Given the description of an element on the screen output the (x, y) to click on. 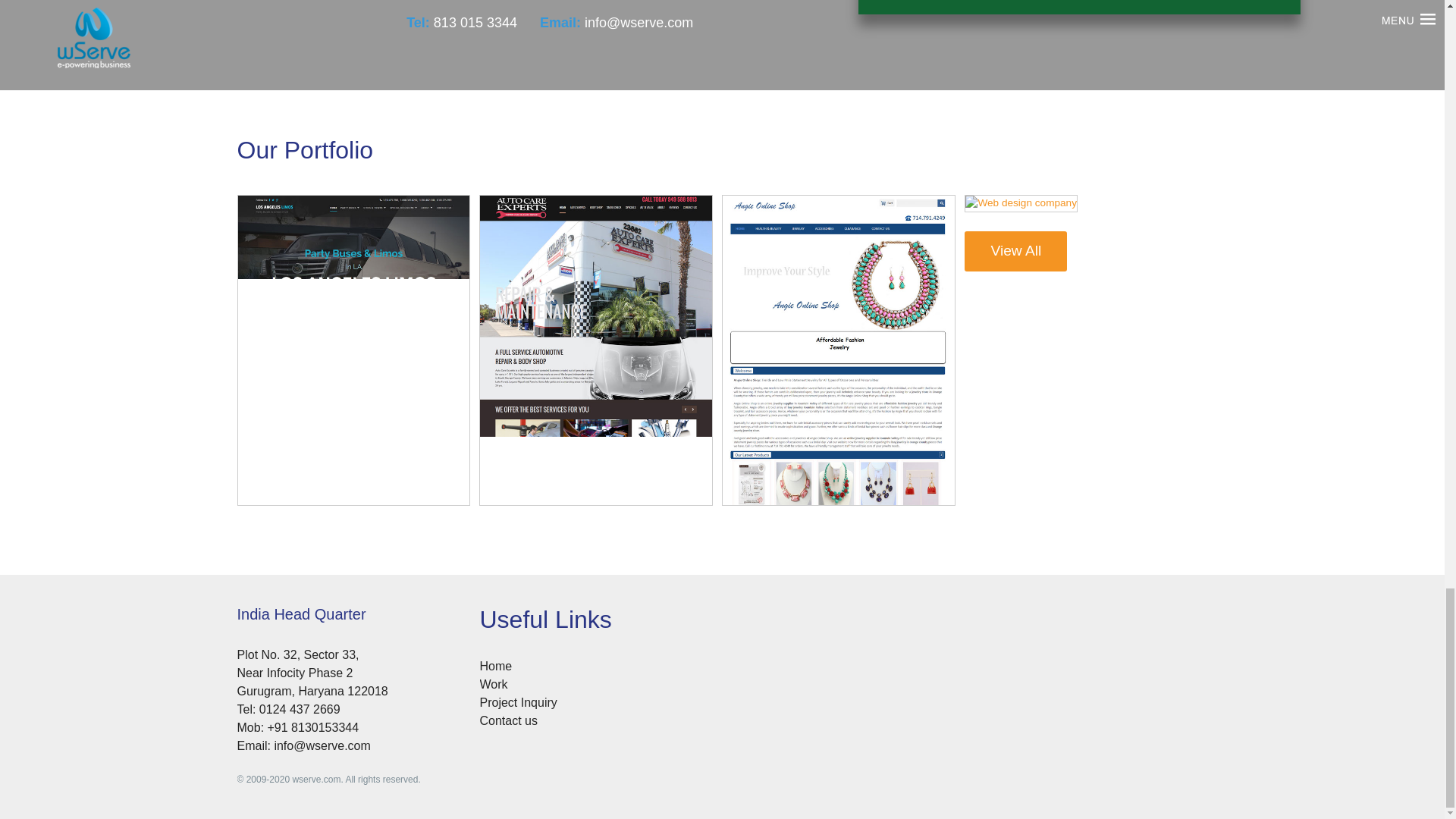
Project Inquiry (517, 701)
Work (492, 683)
View All (287, 508)
Contact us (508, 719)
0124 437 2669 (299, 708)
Home (495, 665)
